Given the description of an element on the screen output the (x, y) to click on. 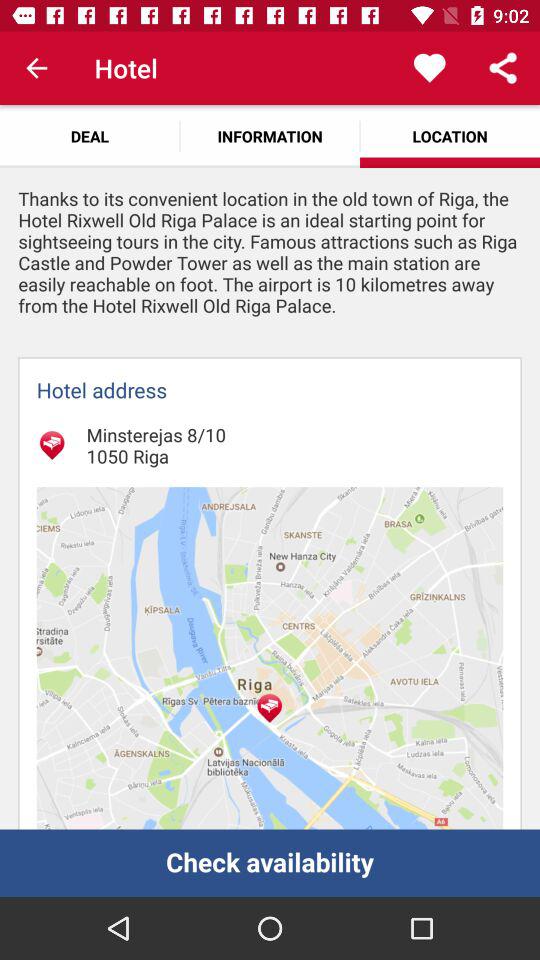
choose item next to the hotel app (36, 68)
